Given the description of an element on the screen output the (x, y) to click on. 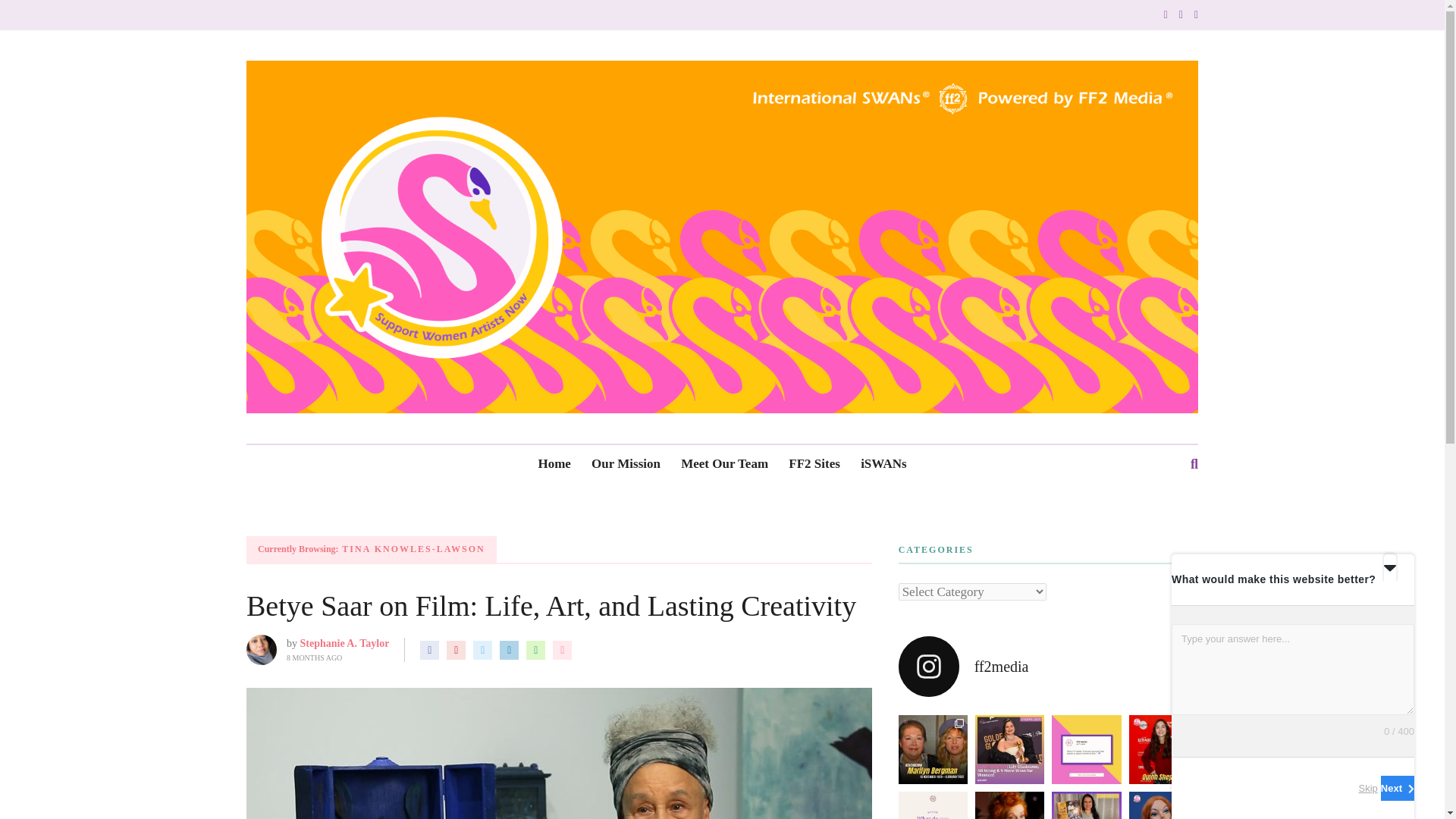
Posts by Stephanie A. Taylor (344, 643)
Betye Saar on Film: Life, Art, and Lasting Creativity (551, 605)
FF2 Sites (814, 464)
iSWANs (882, 464)
Meet Our Team (724, 464)
Home (553, 464)
Our Mission (626, 464)
Stephanie A. Taylor (344, 643)
ff2media (1048, 666)
